Given the description of an element on the screen output the (x, y) to click on. 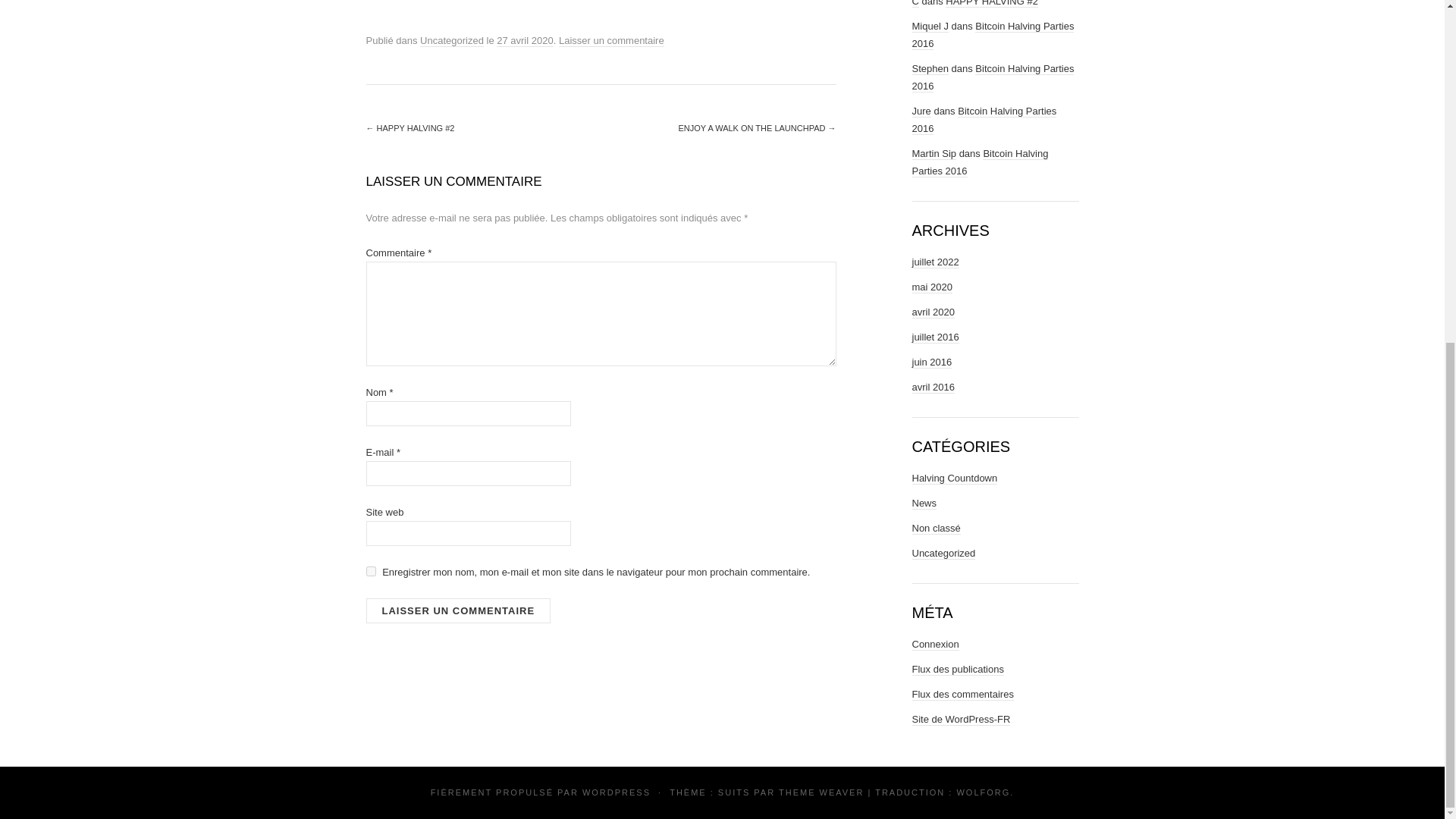
Miquel J (929, 26)
11h54 (524, 40)
C (914, 3)
yes (370, 571)
Laisser un commentaire (611, 40)
mai 2020 (931, 287)
Jure (920, 111)
Laisser un commentaire (457, 610)
Bitcoin Halving Parties 2016 (992, 77)
avril 2016 (932, 387)
juillet 2016 (934, 337)
Uncategorized (451, 40)
avril 2020 (932, 312)
Uncategorized (943, 553)
Semantic Personal Publishing Platform (616, 791)
